Given the description of an element on the screen output the (x, y) to click on. 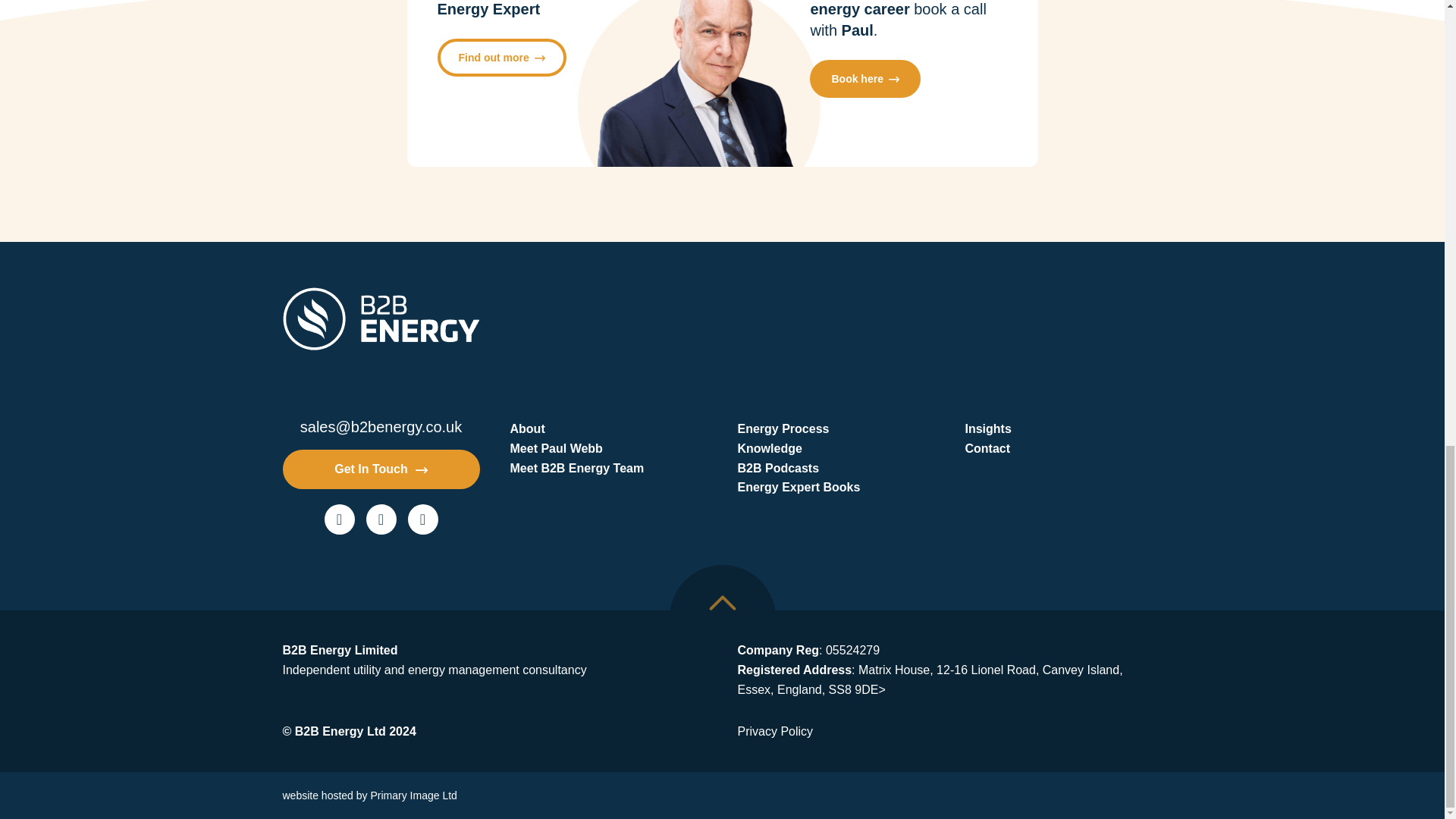
Back to top (721, 602)
About (607, 428)
Meet Paul Webb (607, 448)
Meet B2B Energy Team (607, 468)
Back to top (721, 617)
